Given the description of an element on the screen output the (x, y) to click on. 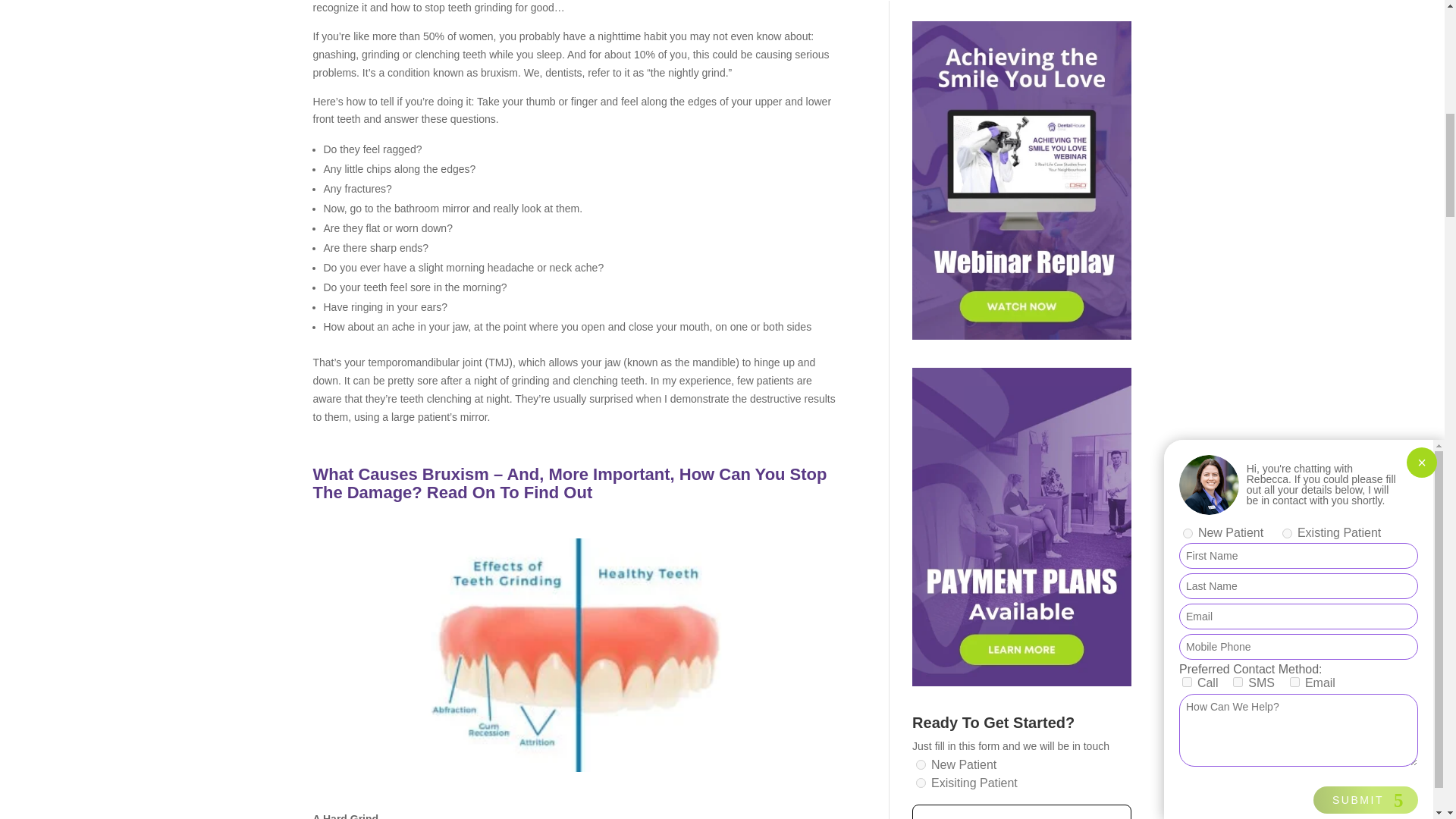
Exisiting Patient (920, 782)
New Patient (920, 764)
